Given the description of an element on the screen output the (x, y) to click on. 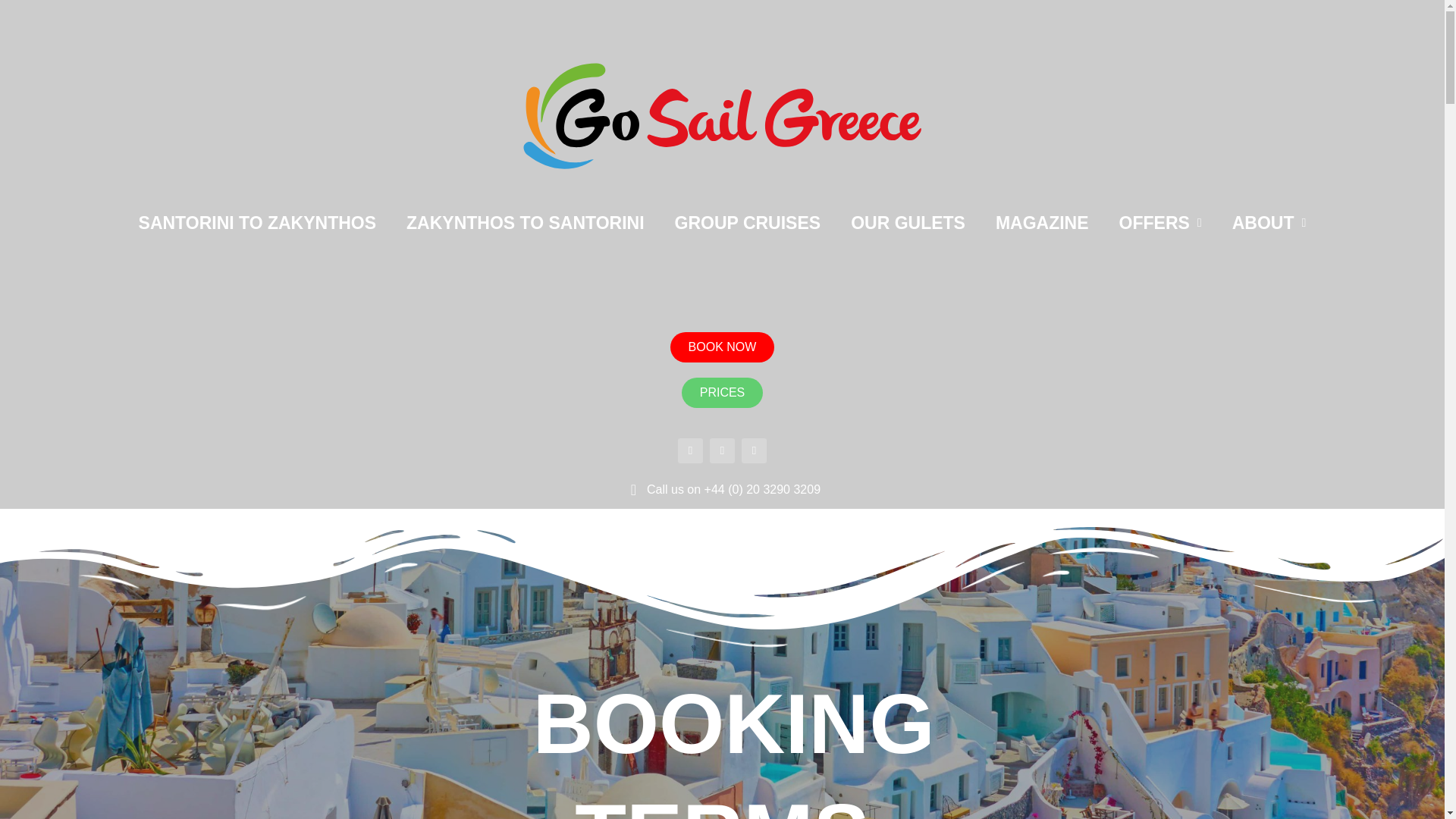
BOOK NOW (721, 347)
Instagram (722, 450)
ZAKYNTHOS TO SANTORINI (525, 222)
Youtube (754, 450)
OFFERS (1160, 222)
MAGAZINE (1041, 222)
ABOUT (1269, 222)
SANTORINI TO ZAKYNTHOS (257, 222)
PRICES (721, 392)
GROUP CRUISES (747, 222)
Facebook-f (690, 450)
OUR GULETS (907, 222)
